Given the description of an element on the screen output the (x, y) to click on. 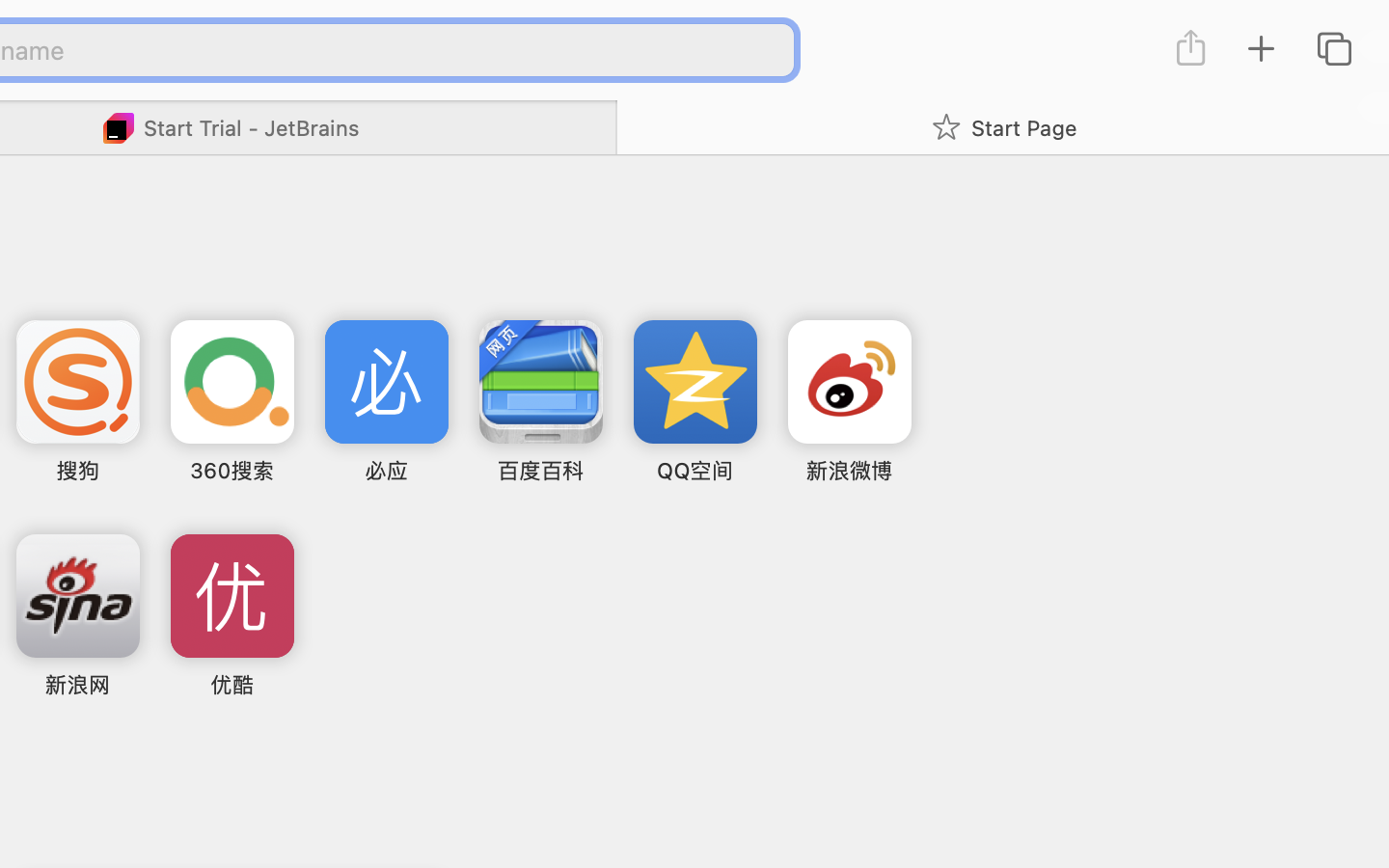
新浪微博 Element type: AXButton (848, 470)
必应 Element type: AXButton (385, 470)
优酷 Element type: AXButton (231, 684)
百度百科 Element type: AXButton (539, 470)
QQ空间 Element type: AXButton (694, 470)
